Given the description of an element on the screen output the (x, y) to click on. 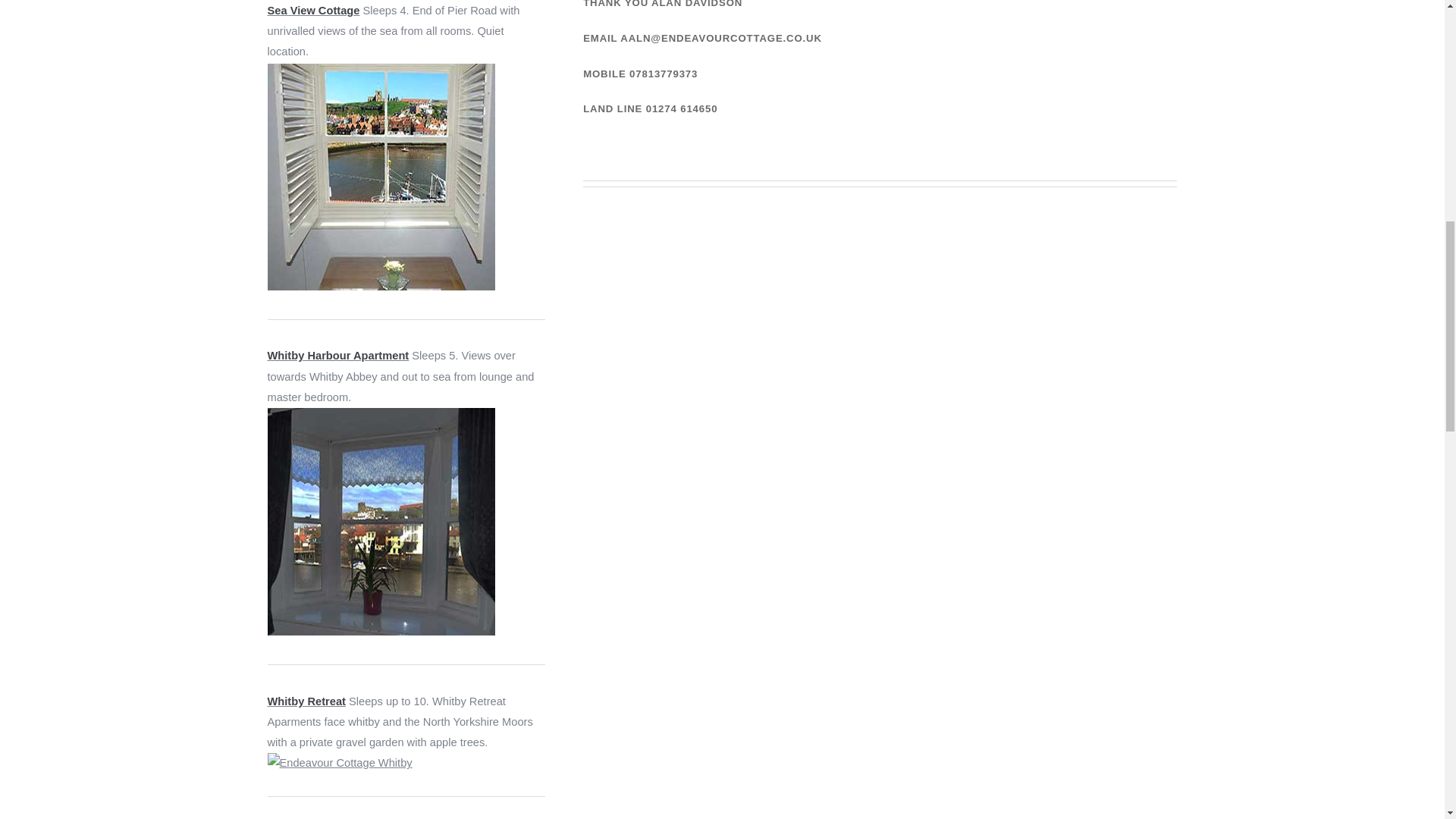
Whitby Retreat (305, 701)
Whitby Harbour Apartment (337, 355)
Sea View Cottage (312, 10)
